Given the description of an element on the screen output the (x, y) to click on. 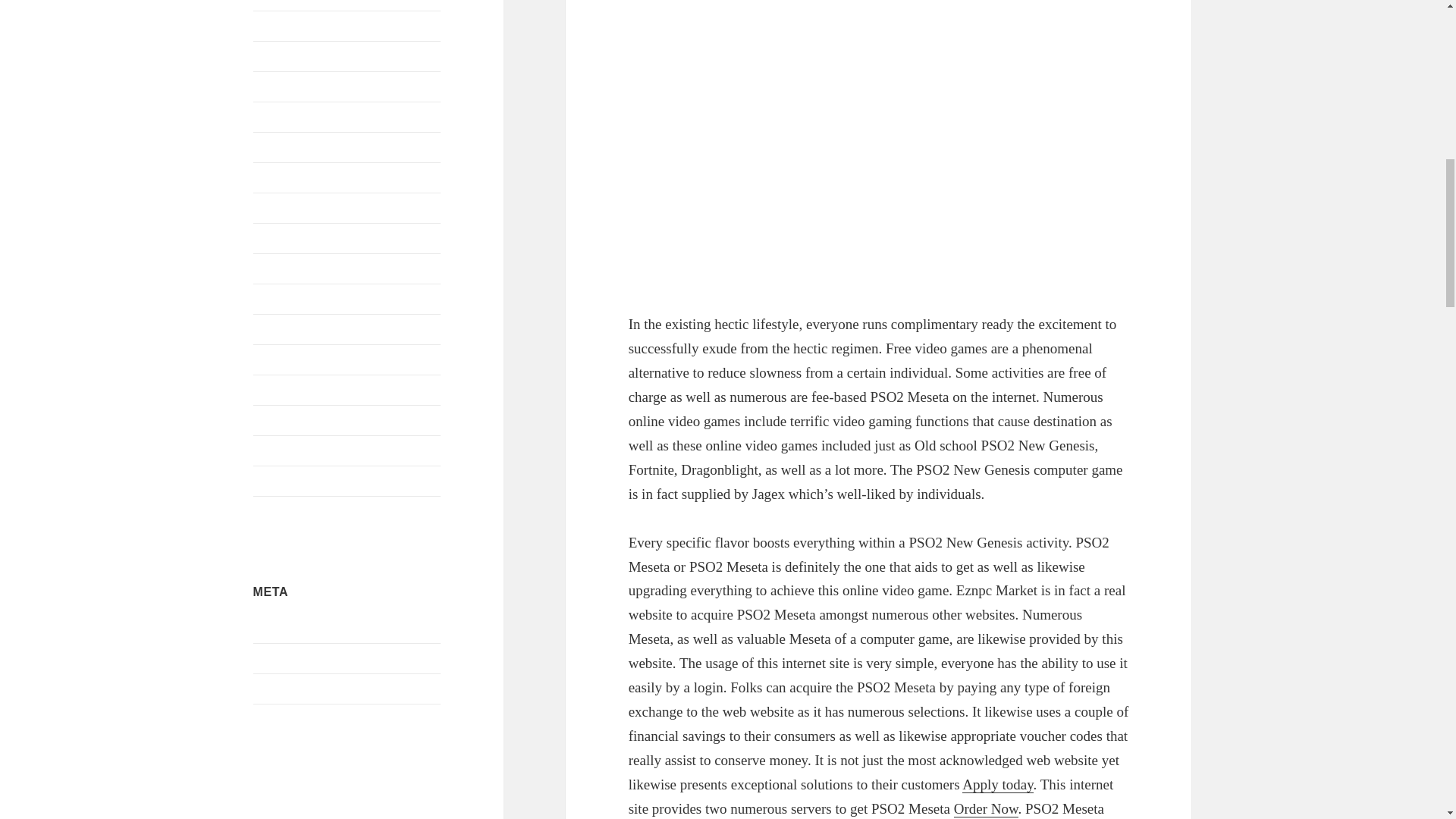
Apply today (997, 784)
Path of Exile (285, 358)
Madden NFL (285, 176)
Apply today (997, 784)
TERA (269, 419)
Wildstar (273, 480)
Entries feed (282, 658)
WOW Classic (288, 510)
Order Now (985, 808)
Maplestory 2 (285, 206)
Order Now (985, 808)
Monopoly Go (287, 267)
MLB The Show Stubs (307, 718)
MLB The Show (292, 237)
NHL Video Games (299, 328)
